Given the description of an element on the screen output the (x, y) to click on. 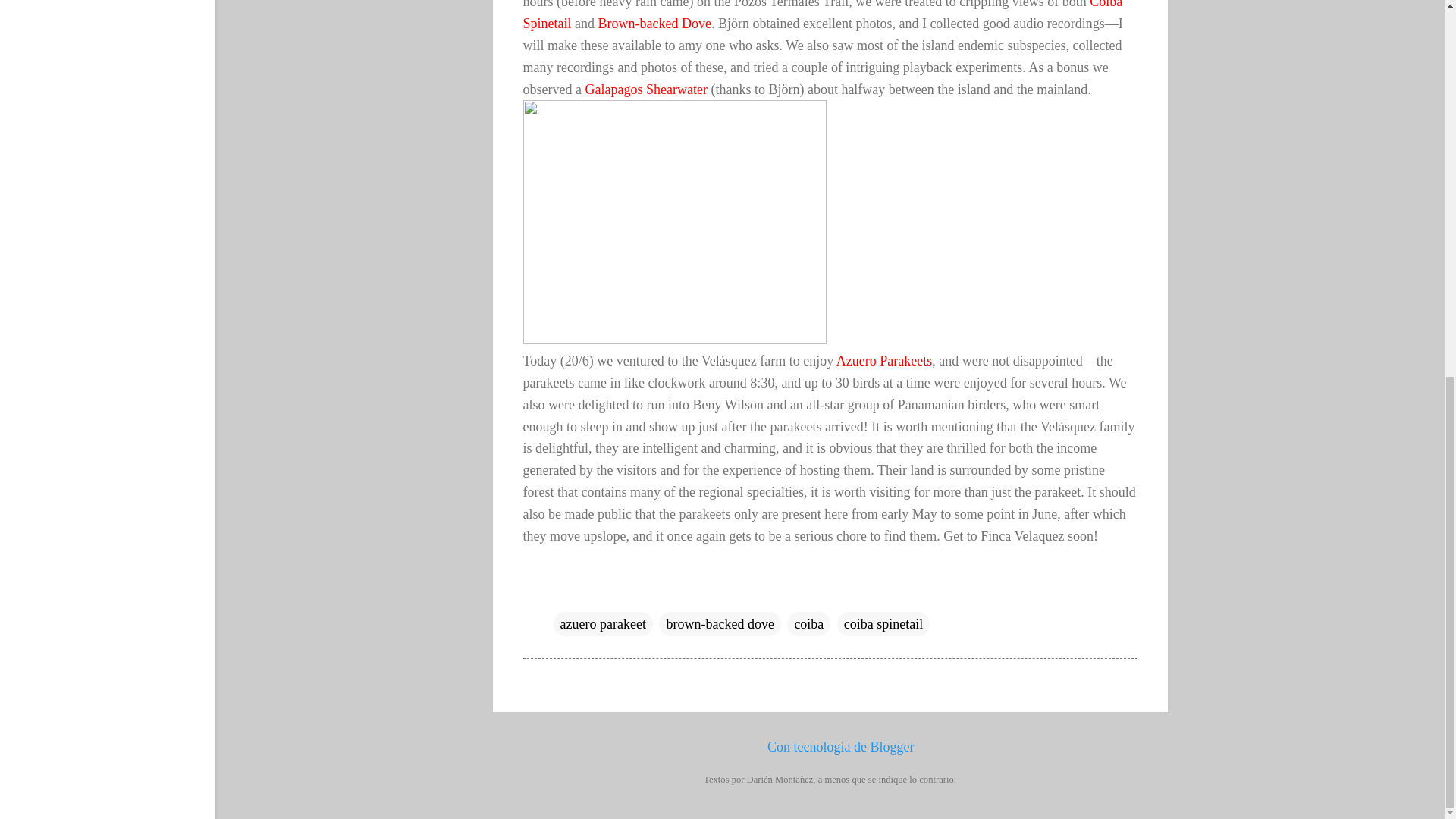
coiba spinetail (883, 623)
brown-backed dove (719, 623)
azuero parakeet (602, 623)
coiba (808, 623)
